Given the description of an element on the screen output the (x, y) to click on. 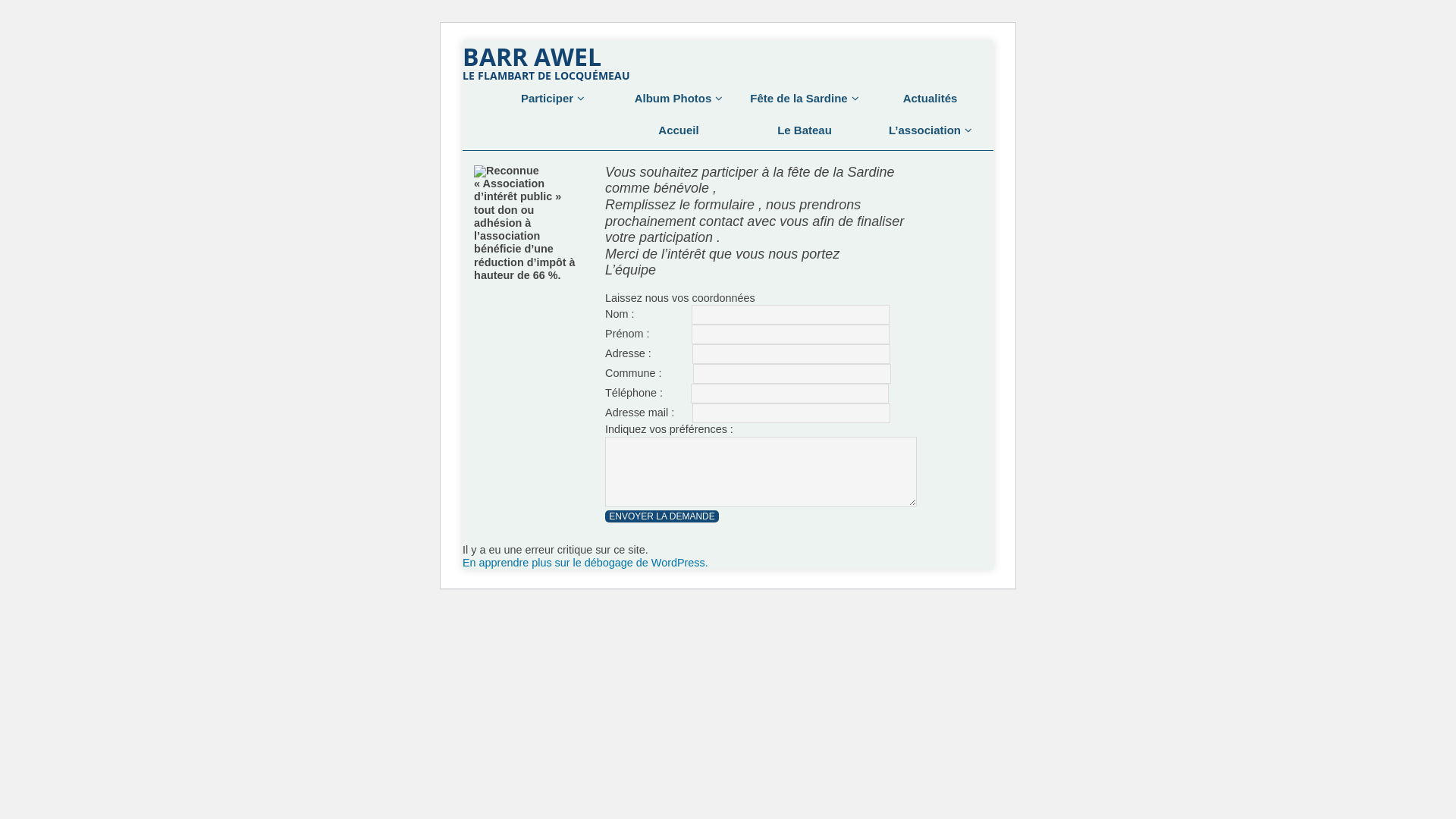
Le Bateau Element type: text (803, 130)
Album Photos Element type: text (677, 98)
Accueil Element type: text (677, 130)
Participer Element type: text (552, 98)
 Envoyer la demande  Element type: text (661, 516)
